Given the description of an element on the screen output the (x, y) to click on. 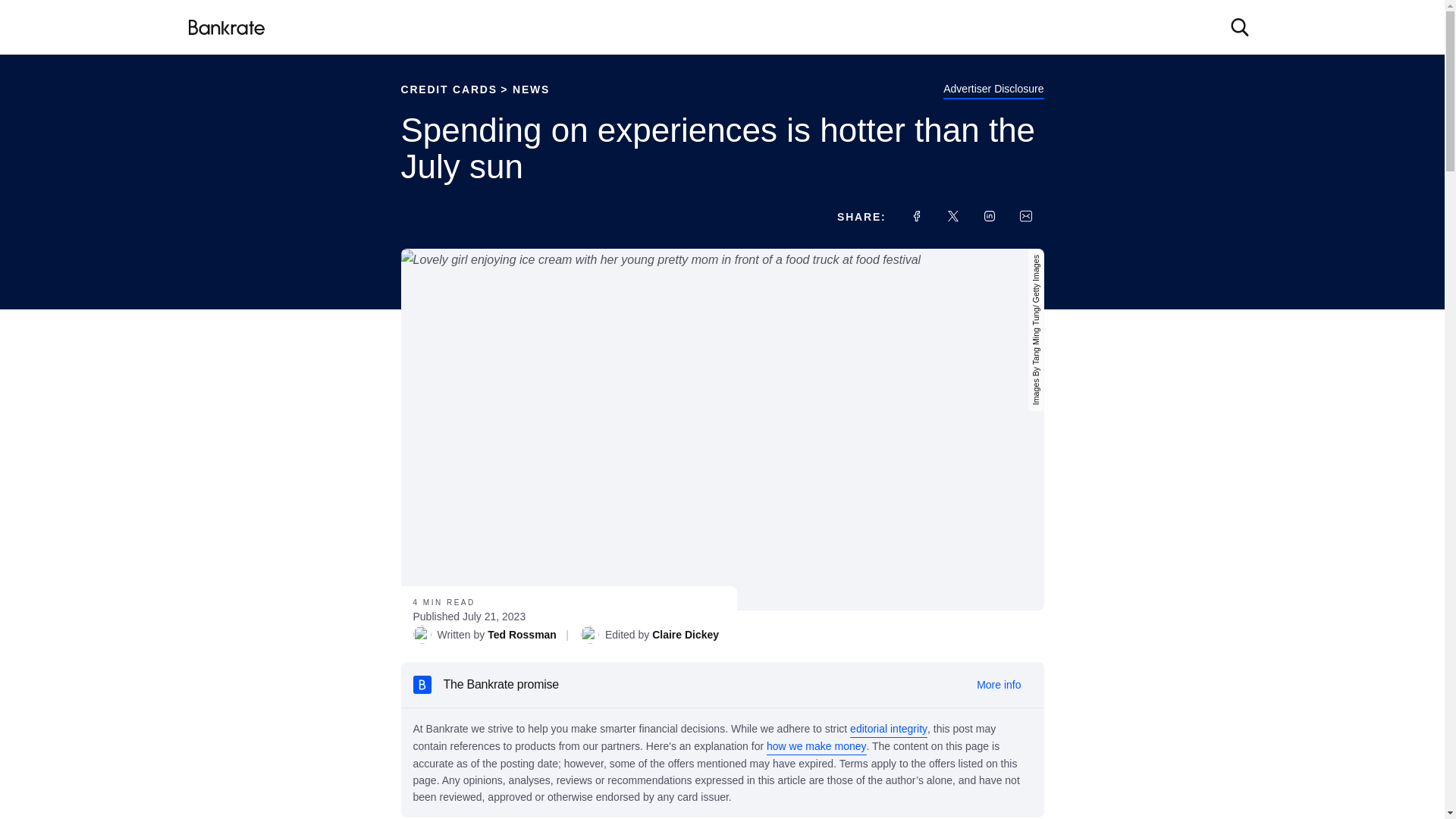
LinkedIn (988, 215)
Twitter (952, 215)
Email (1024, 215)
Facebook (915, 215)
